Given the description of an element on the screen output the (x, y) to click on. 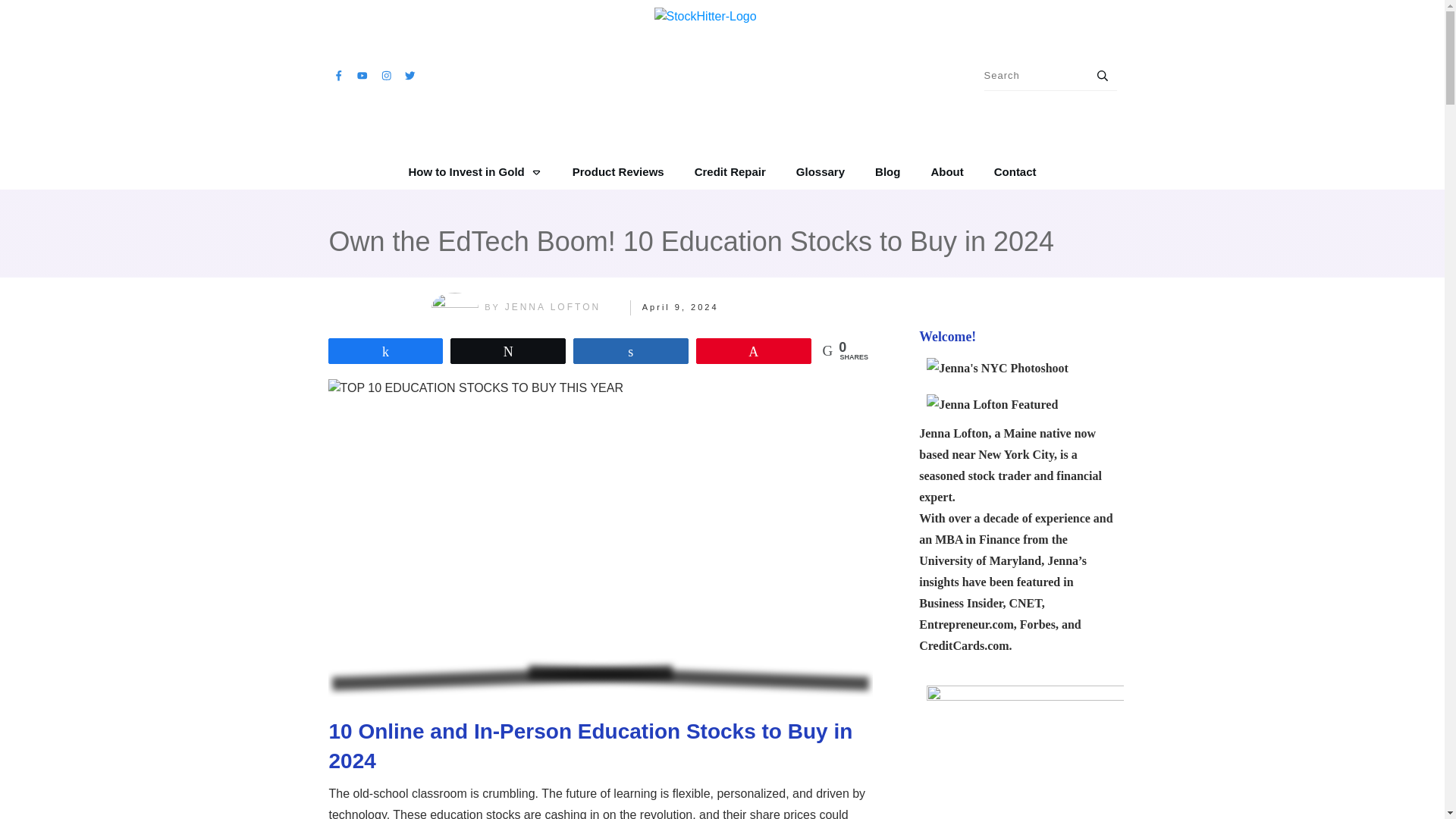
How to Invest in Gold (474, 171)
Product Reviews (617, 171)
About (946, 171)
Credit Repair (729, 171)
Contact (1015, 171)
Glossary (820, 171)
JENNA LOFTON (552, 307)
Blog (887, 171)
